Given the description of an element on the screen output the (x, y) to click on. 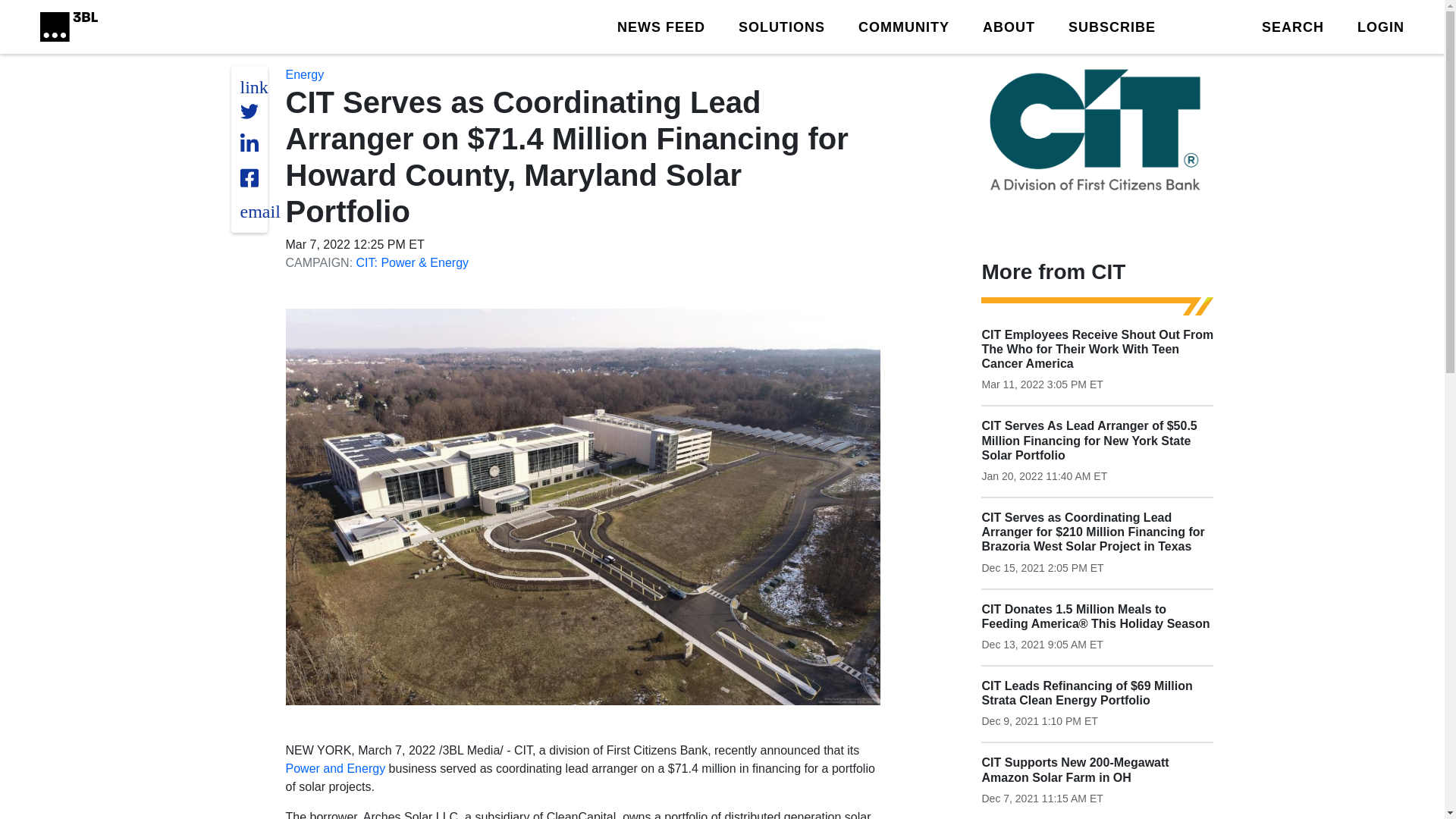
SOLUTIONS (781, 26)
ABOUT (1008, 26)
COMMUNITY (904, 26)
Share via email (259, 211)
NEWS FEED (660, 26)
link to 3 B L Media's Twitter (253, 87)
SUBSCRIBE (1112, 26)
